Given the description of an element on the screen output the (x, y) to click on. 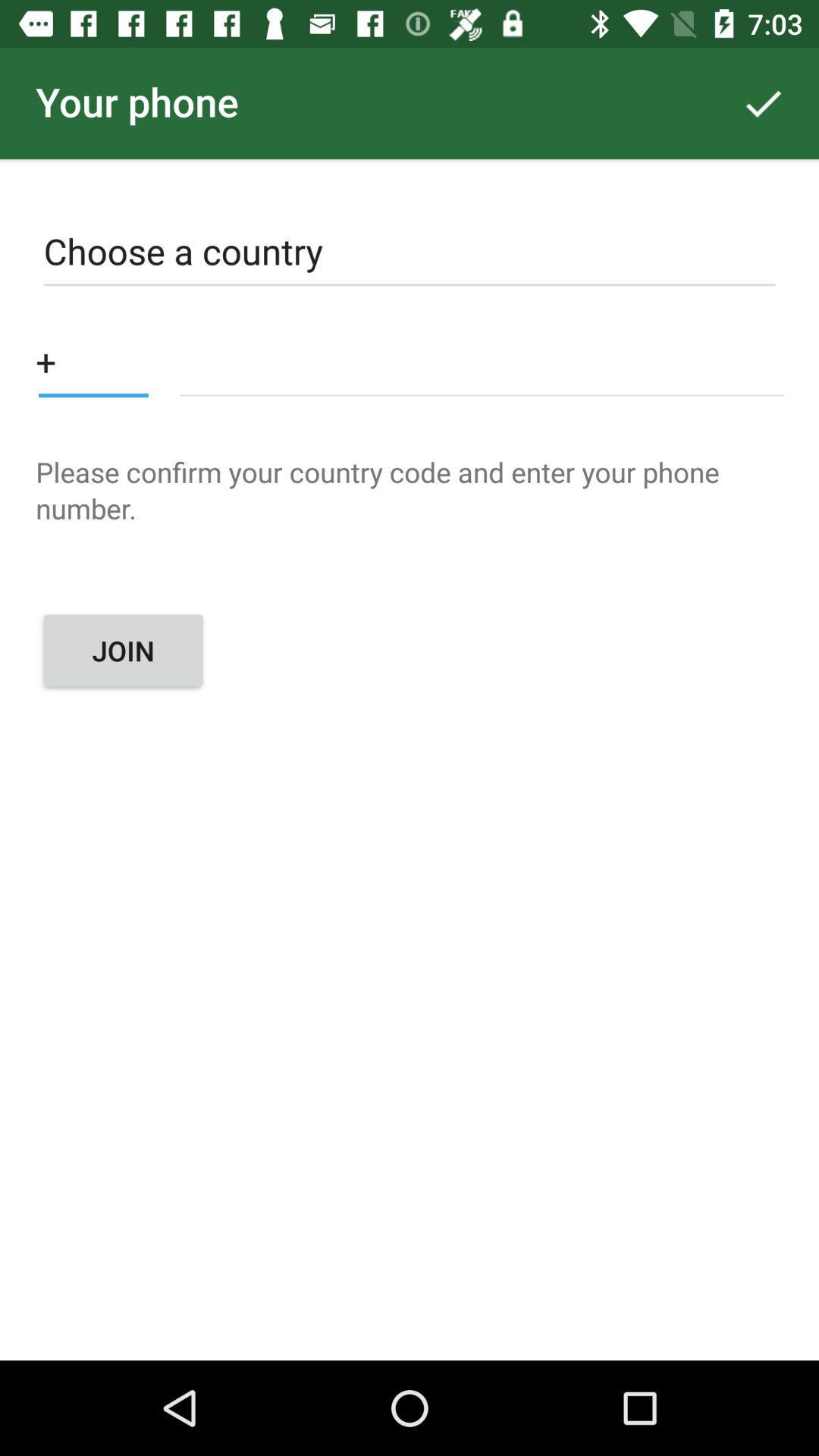
add more options (93, 361)
